Given the description of an element on the screen output the (x, y) to click on. 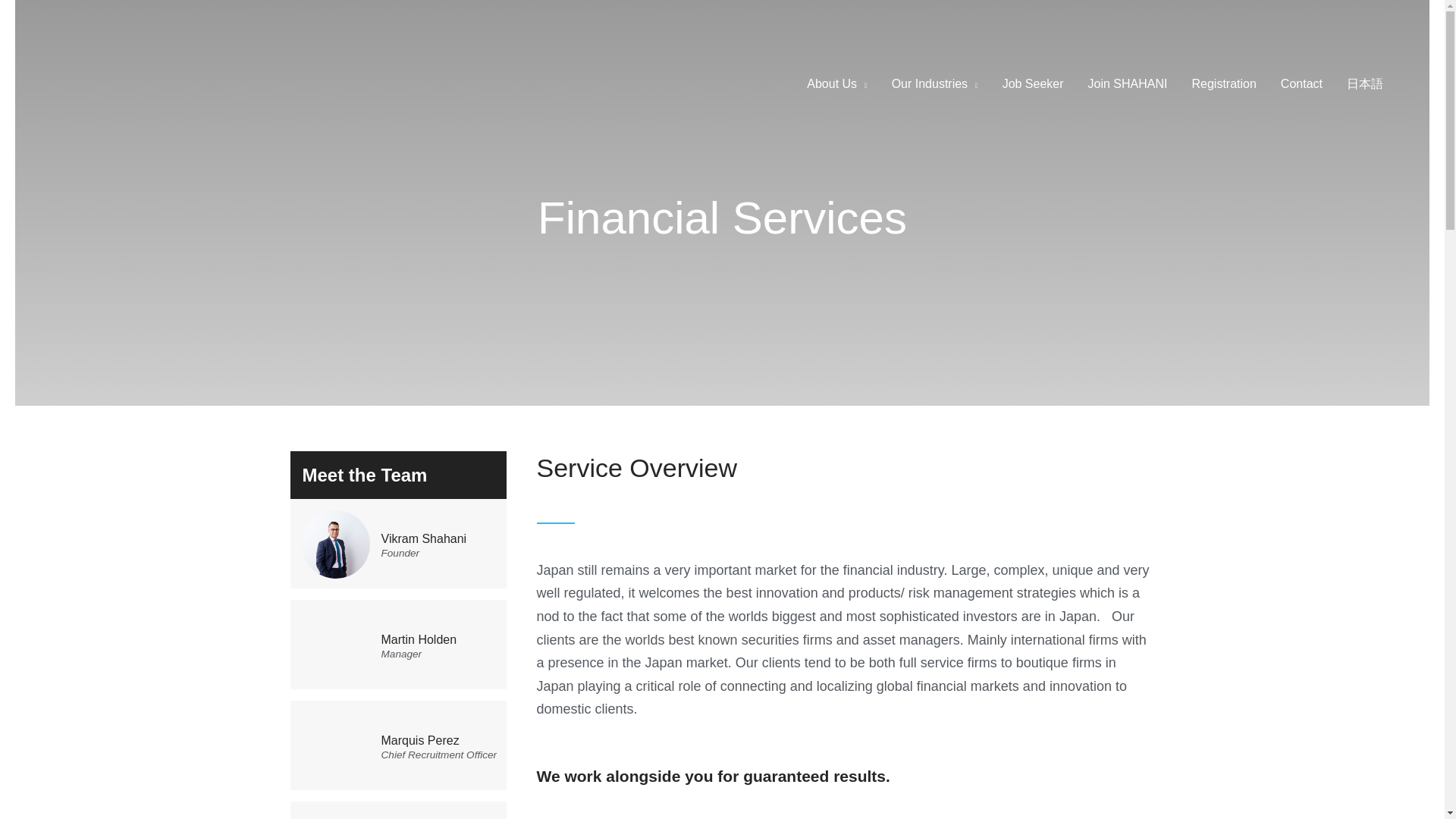
Job Seeker (1032, 83)
Join SHAHANI (1127, 83)
Contact (1301, 83)
About Us (836, 83)
Our Industries (934, 83)
Registration (1223, 83)
